Given the description of an element on the screen output the (x, y) to click on. 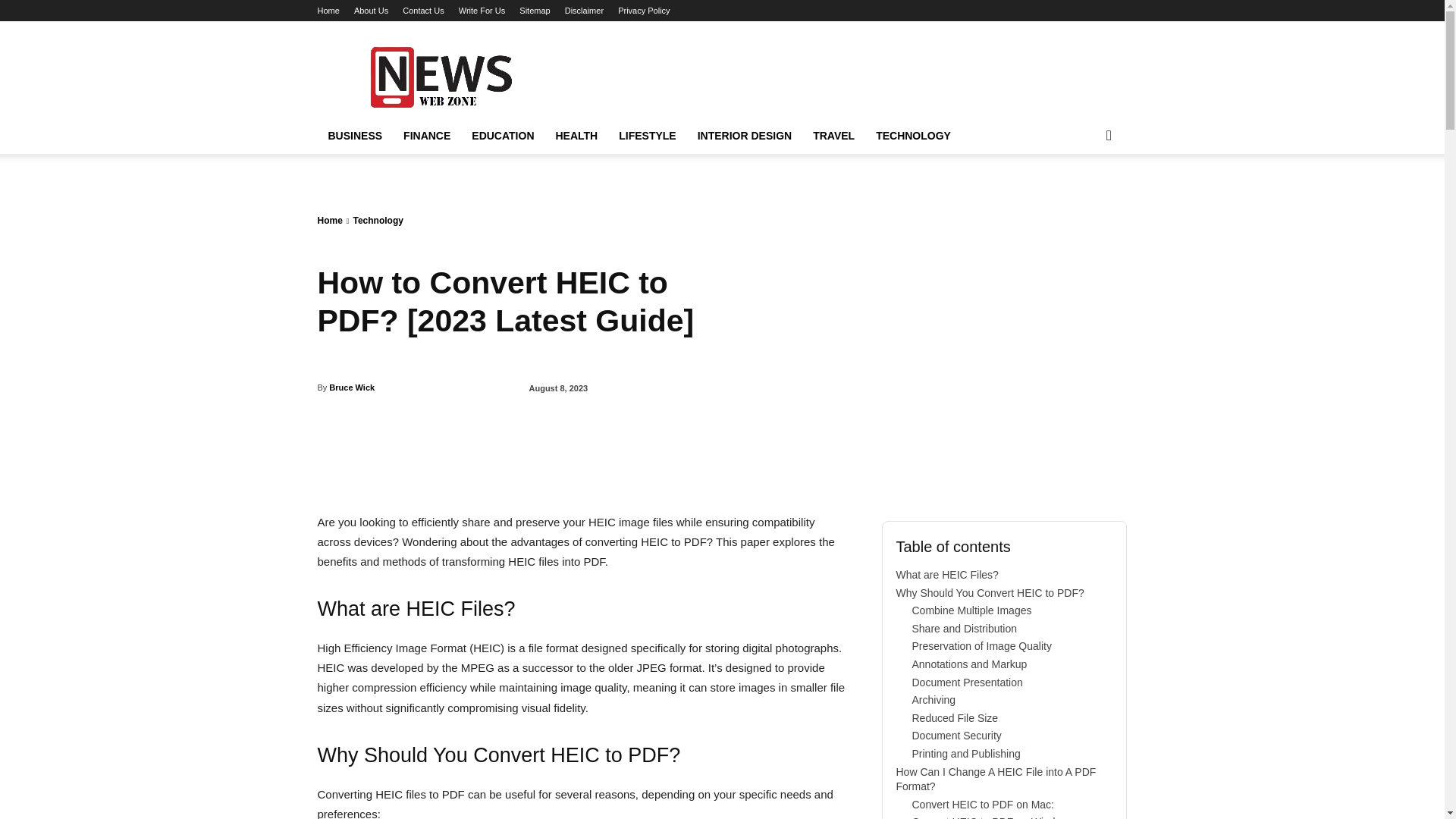
Sitemap (534, 10)
Write For Us (481, 10)
BUSINESS (355, 135)
View all posts in Technology (378, 220)
EDUCATION (502, 135)
Privacy Policy (643, 10)
Disclaimer (584, 10)
Home (328, 10)
LIFESTYLE (646, 135)
About Us (370, 10)
HEALTH (576, 135)
Contact Us (423, 10)
FINANCE (427, 135)
